Given the description of an element on the screen output the (x, y) to click on. 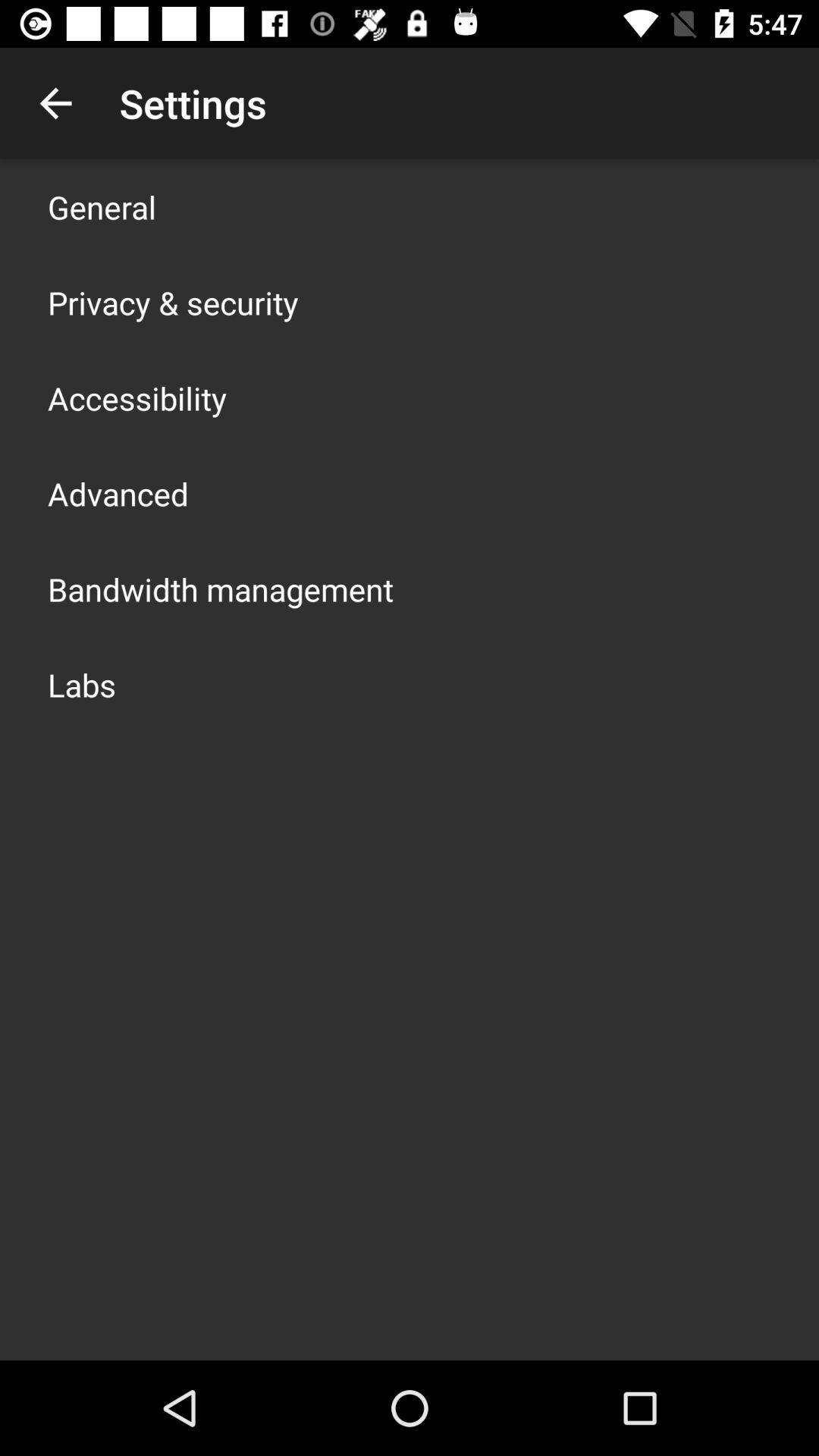
turn off the icon above the accessibility (172, 302)
